Given the description of an element on the screen output the (x, y) to click on. 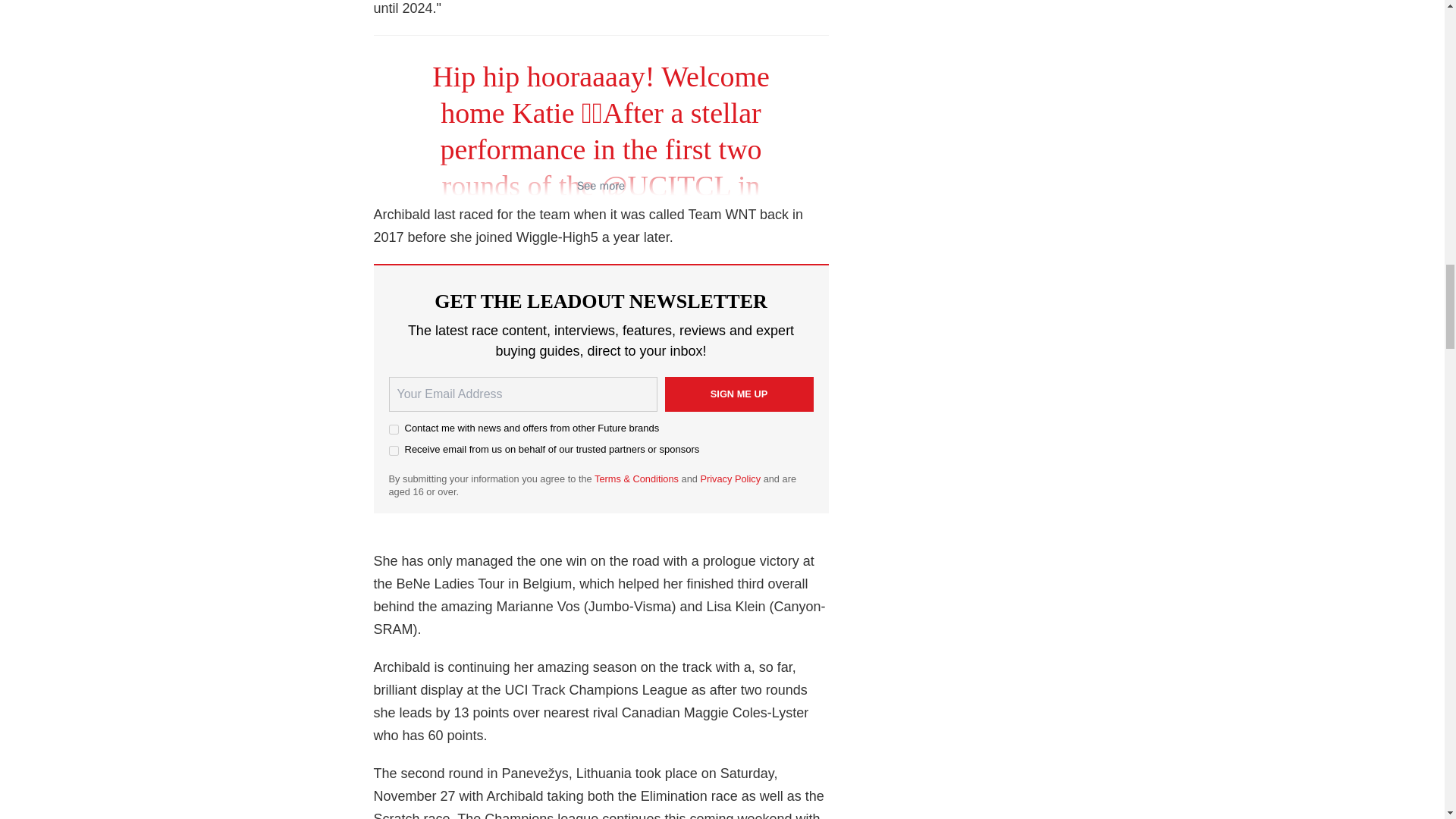
Sign me up (737, 393)
on (392, 429)
on (392, 450)
